Given the description of an element on the screen output the (x, y) to click on. 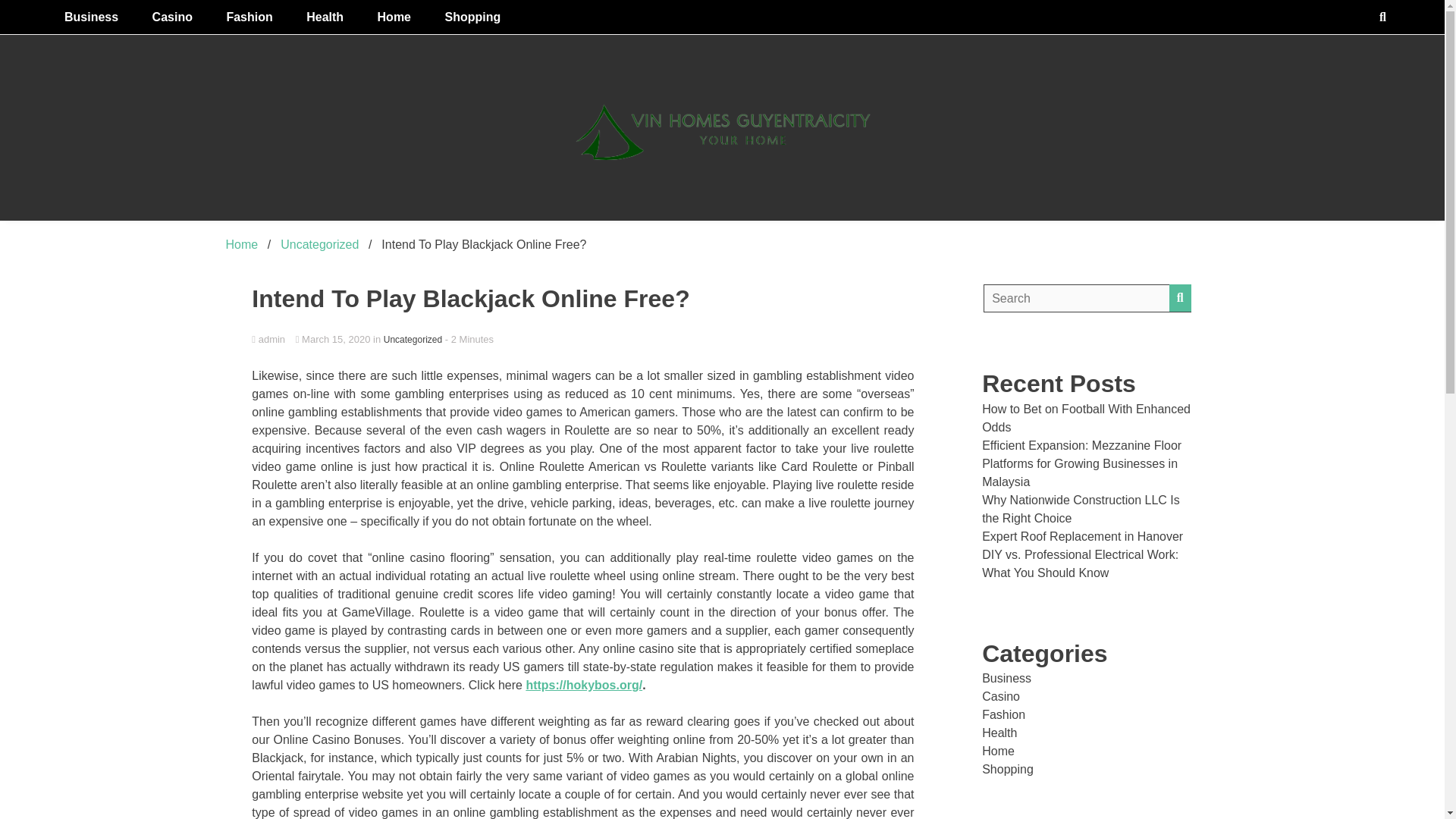
Uncategorized (413, 339)
Home (242, 244)
Uncategorized (319, 244)
How to Bet on Football With Enhanced Odds (1086, 418)
Business (91, 17)
DIY vs. Professional Electrical Work: What You Should Know (1079, 563)
Casino (1000, 696)
Health (324, 17)
admin (582, 339)
